Given the description of an element on the screen output the (x, y) to click on. 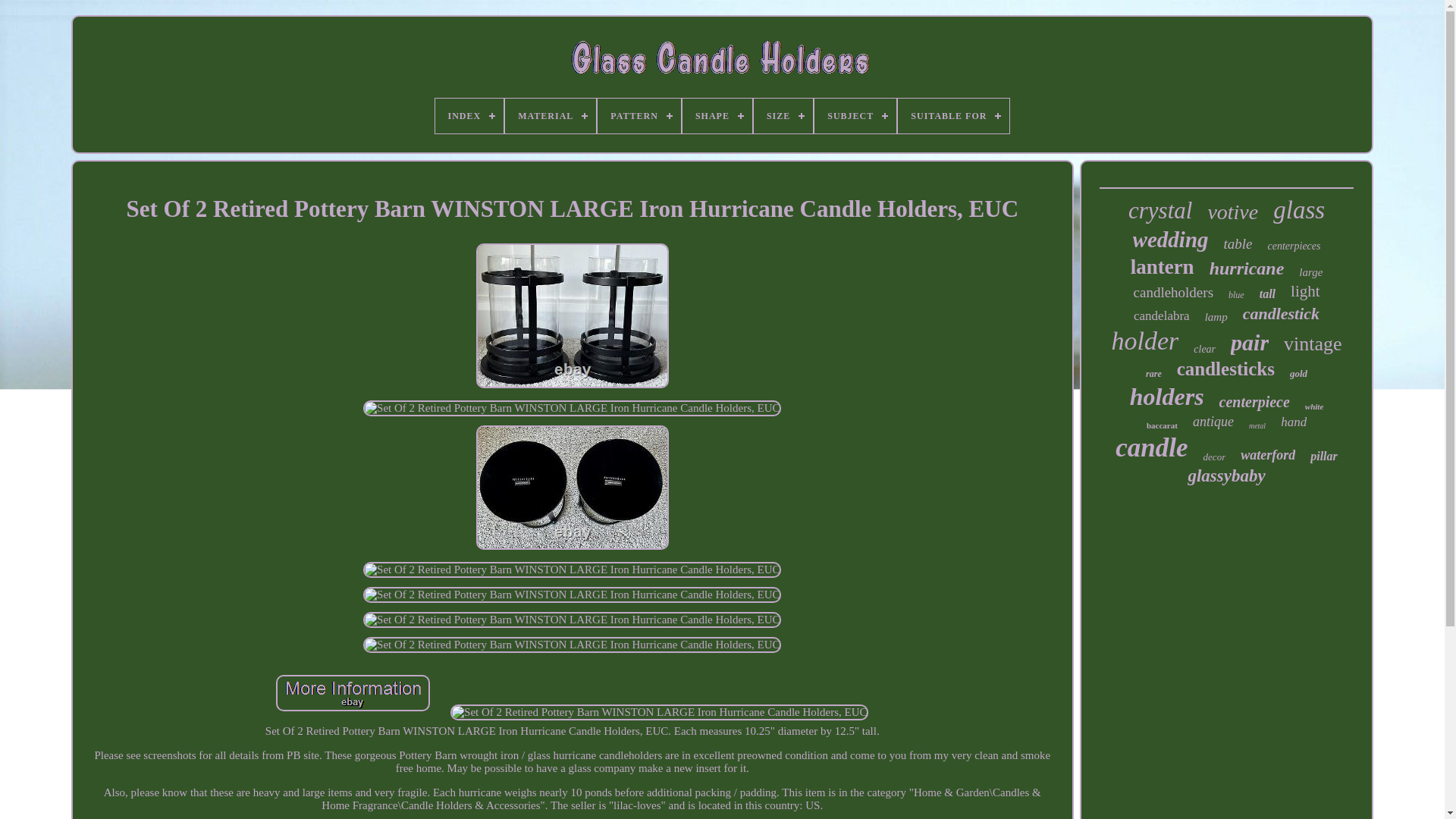
INDEX (469, 115)
PATTERN (638, 115)
MATERIAL (550, 115)
